Given the description of an element on the screen output the (x, y) to click on. 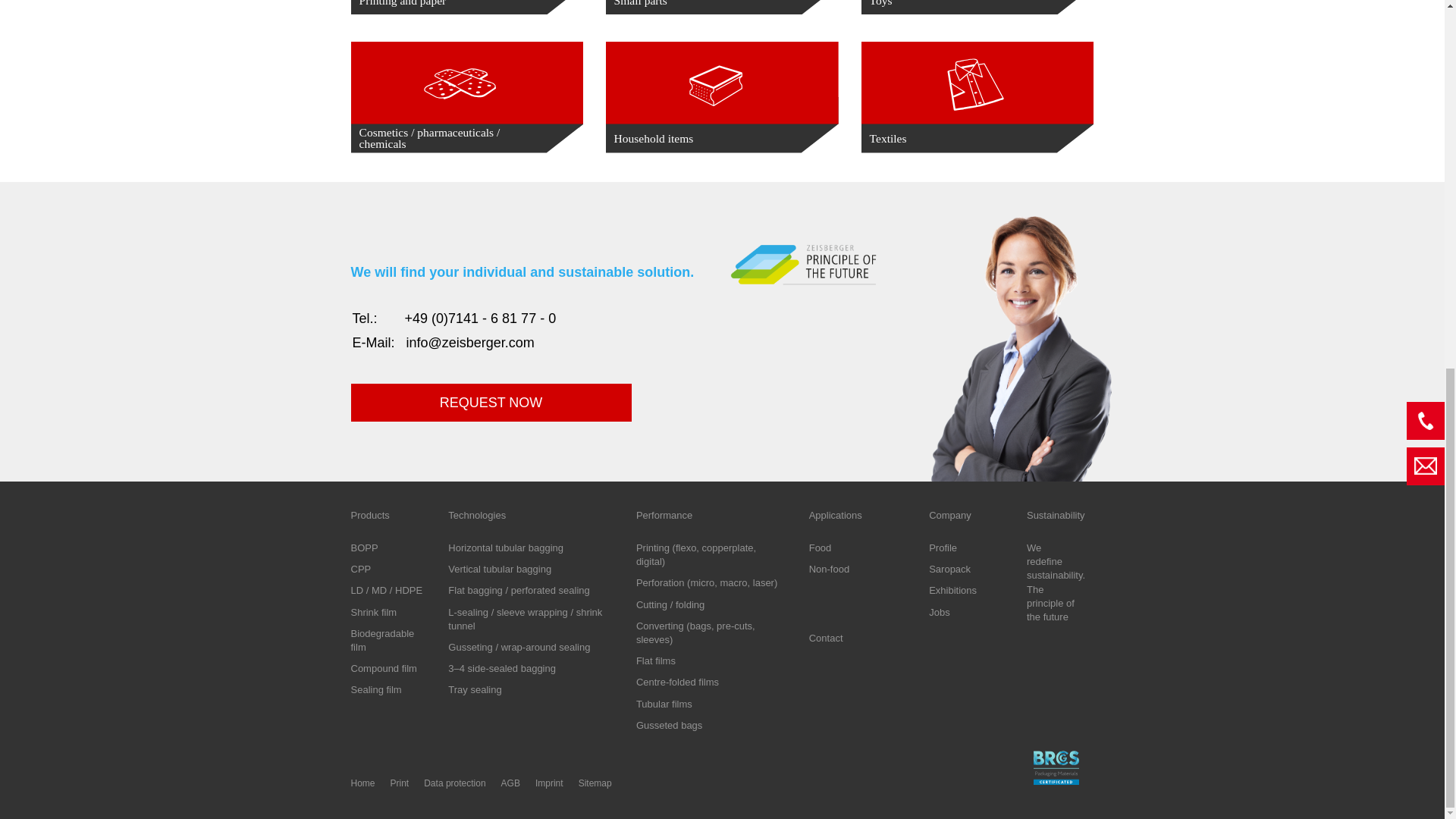
Household items (721, 97)
Printing and paper (466, 7)
Small parts (721, 7)
Textiles (977, 97)
Toys (977, 7)
